Given the description of an element on the screen output the (x, y) to click on. 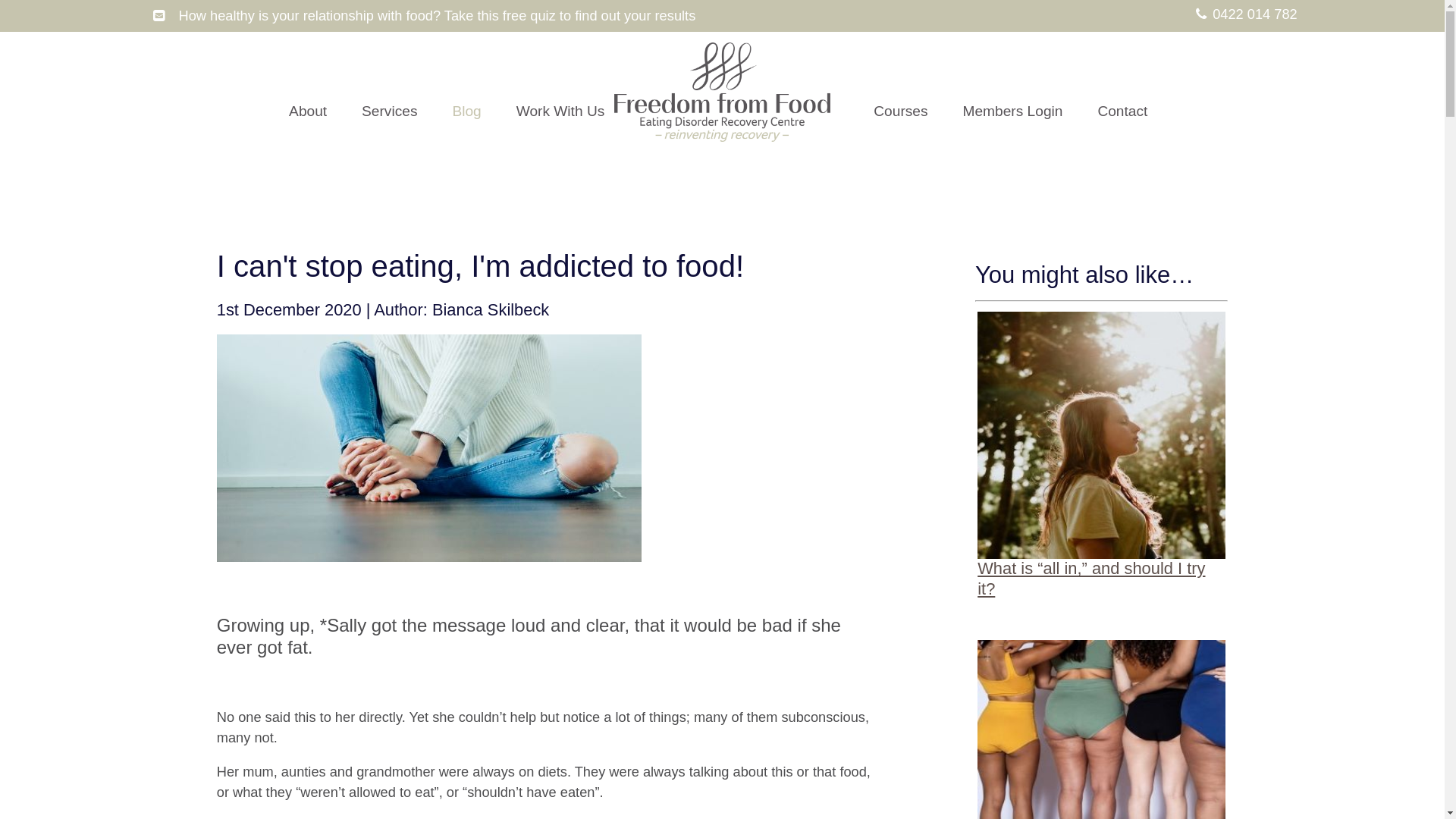
Work With Us Element type: text (560, 111)
Courses Element type: text (900, 111)
0422 014 782 Element type: text (1241, 15)
Blog Element type: text (466, 111)
Services Element type: text (389, 111)
About Element type: text (307, 111)
Contact Element type: text (1122, 111)
Members Login Element type: text (1012, 111)
